Given the description of an element on the screen output the (x, y) to click on. 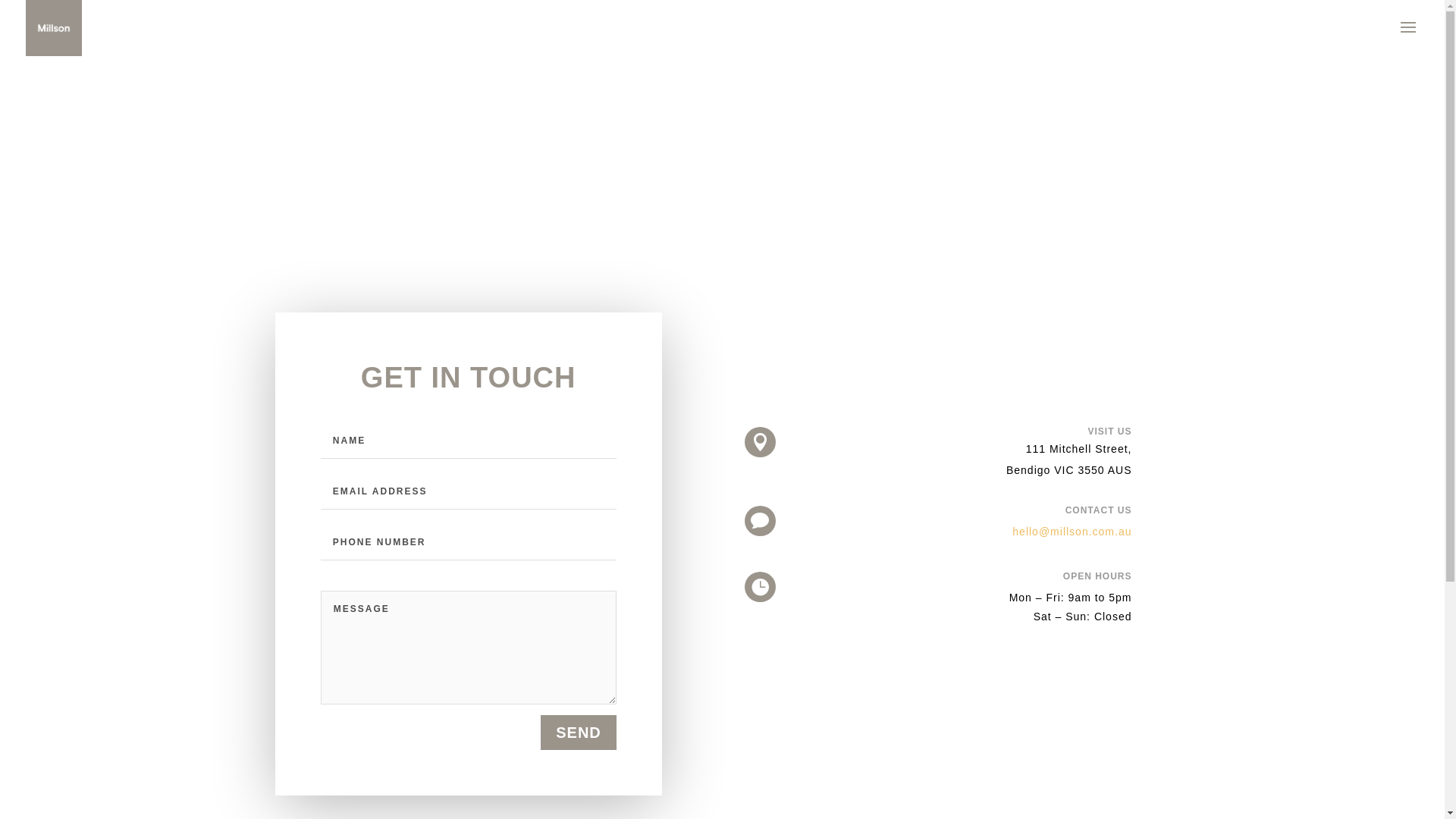
hello@millson.com.au Element type: text (1071, 531)
SUBMIT Element type: text (337, 279)
SEND Element type: text (578, 732)
